Given the description of an element on the screen output the (x, y) to click on. 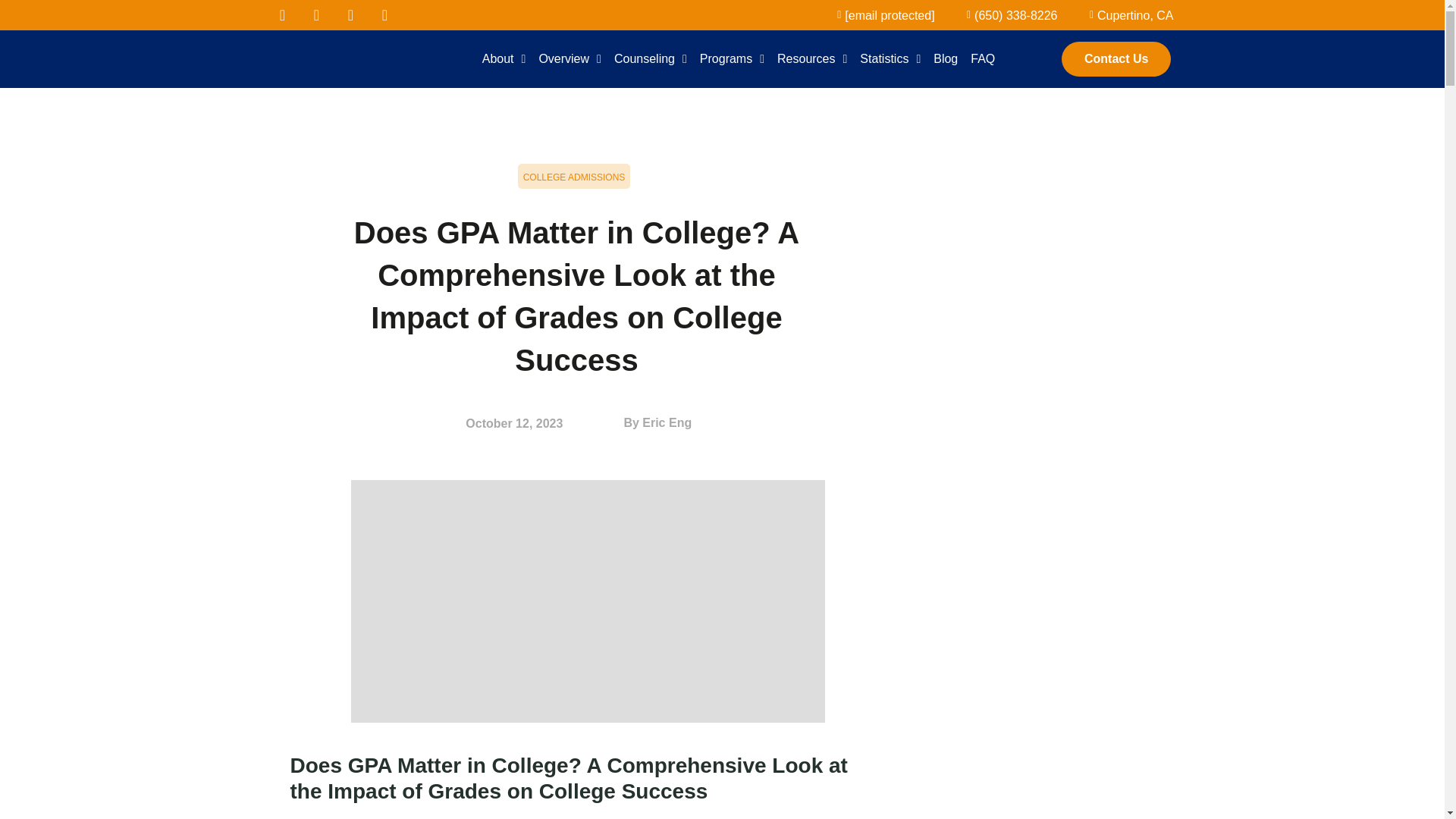
Programs (731, 59)
Linkedin (349, 15)
Overview (569, 59)
Counseling (650, 59)
Facebook (281, 15)
About (504, 59)
Instagram (384, 15)
Twitter (316, 15)
